Given the description of an element on the screen output the (x, y) to click on. 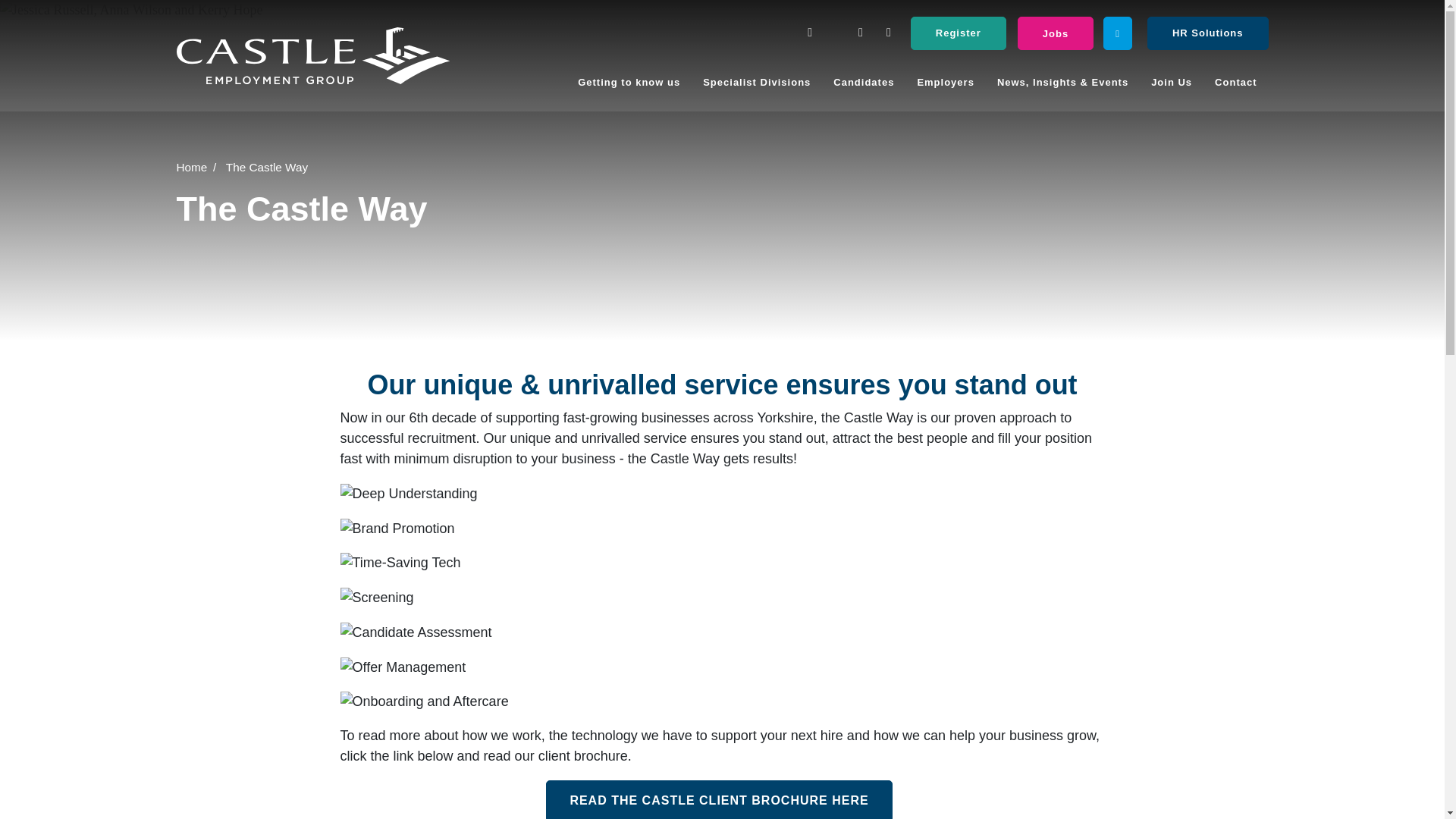
Getting to know us (628, 83)
Specialist Divisions (756, 83)
HR Solutions (1207, 32)
Employers (945, 83)
Candidates (863, 83)
Jobs (1055, 32)
Register (958, 32)
